Given the description of an element on the screen output the (x, y) to click on. 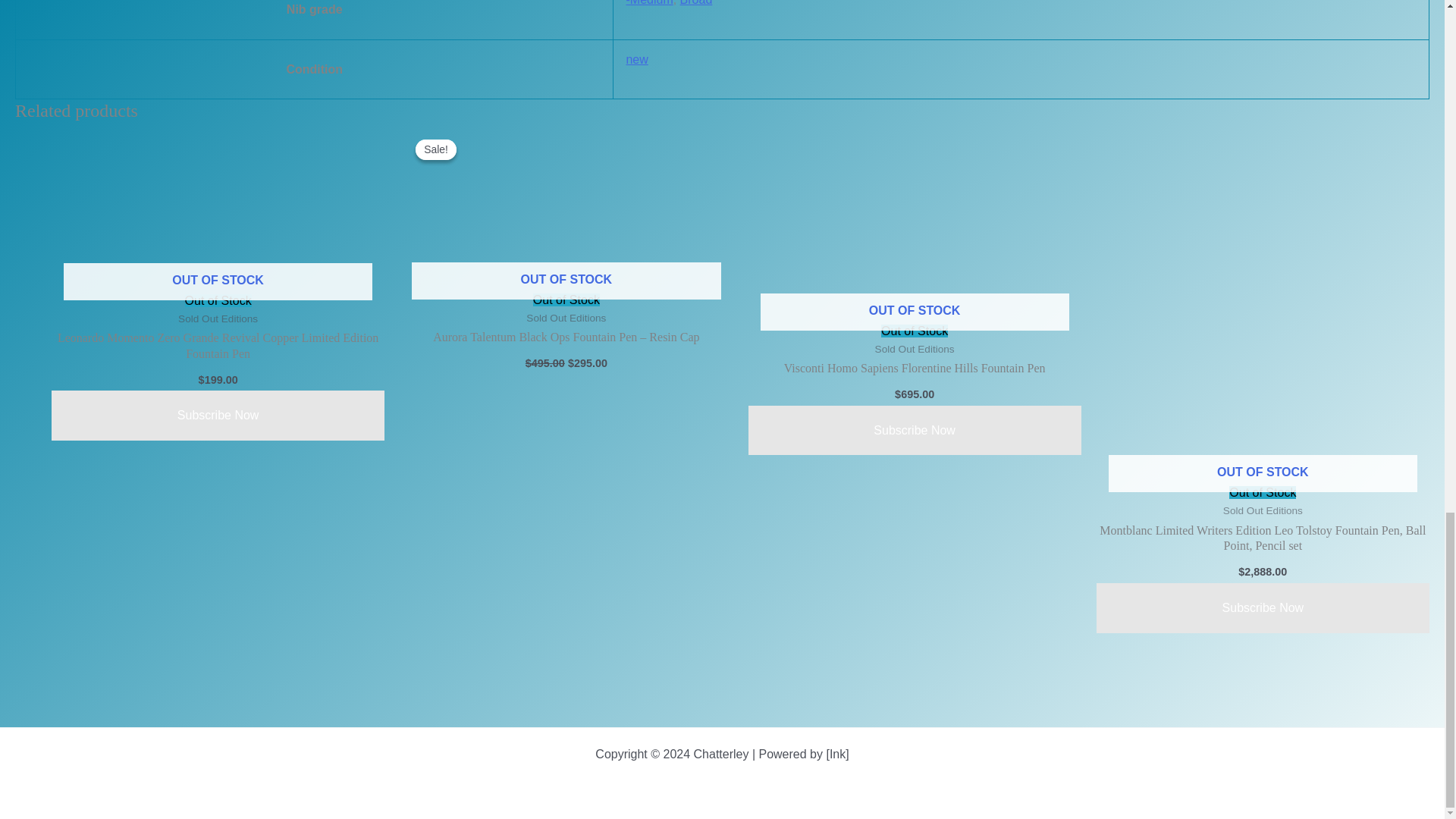
Subscribe Now (914, 430)
Subscribe Now (1262, 608)
Subscribe Now (217, 415)
